Given the description of an element on the screen output the (x, y) to click on. 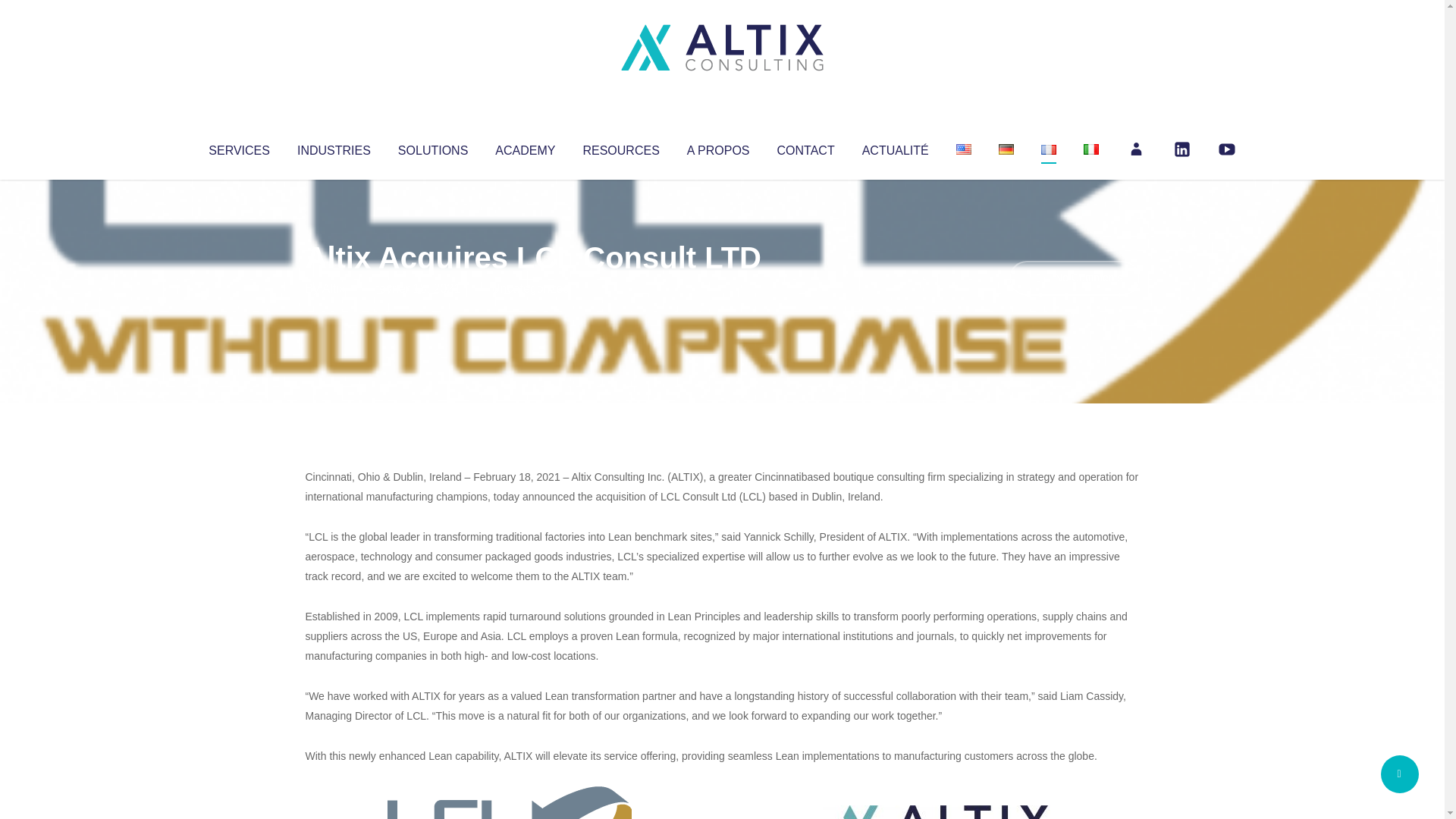
INDUSTRIES (334, 146)
ACADEMY (524, 146)
Articles par Altix (333, 287)
A PROPOS (718, 146)
No Comments (1073, 278)
SERVICES (238, 146)
Uncategorized (530, 287)
Altix (333, 287)
SOLUTIONS (432, 146)
RESOURCES (620, 146)
